Given the description of an element on the screen output the (x, y) to click on. 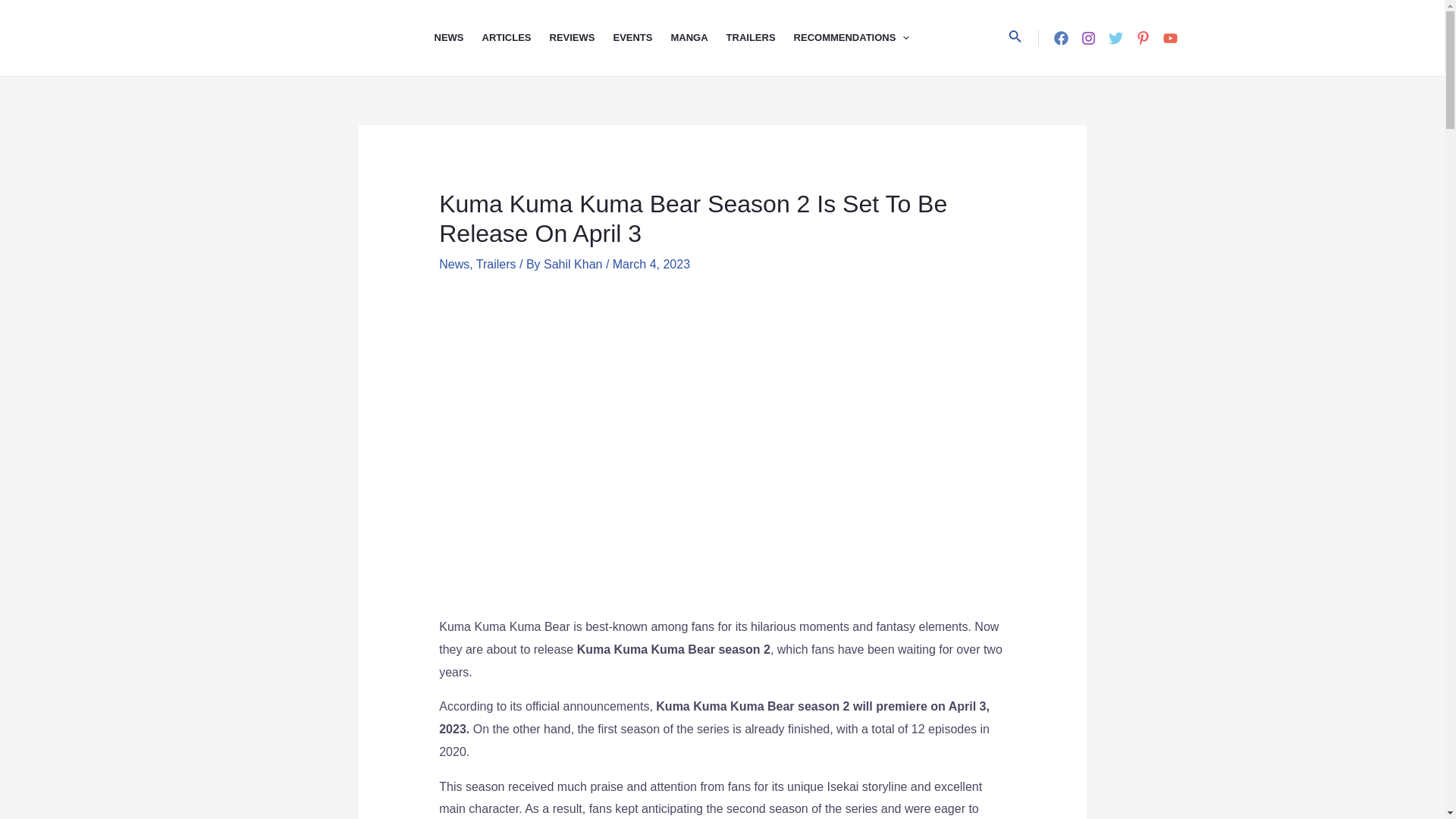
TRAILERS (759, 38)
RECOMMENDATIONS (860, 38)
Trailers (496, 264)
Sahil Khan (574, 264)
View all posts by Sahil Khan (574, 264)
News (453, 264)
ARTICLES (515, 38)
